Given the description of an element on the screen output the (x, y) to click on. 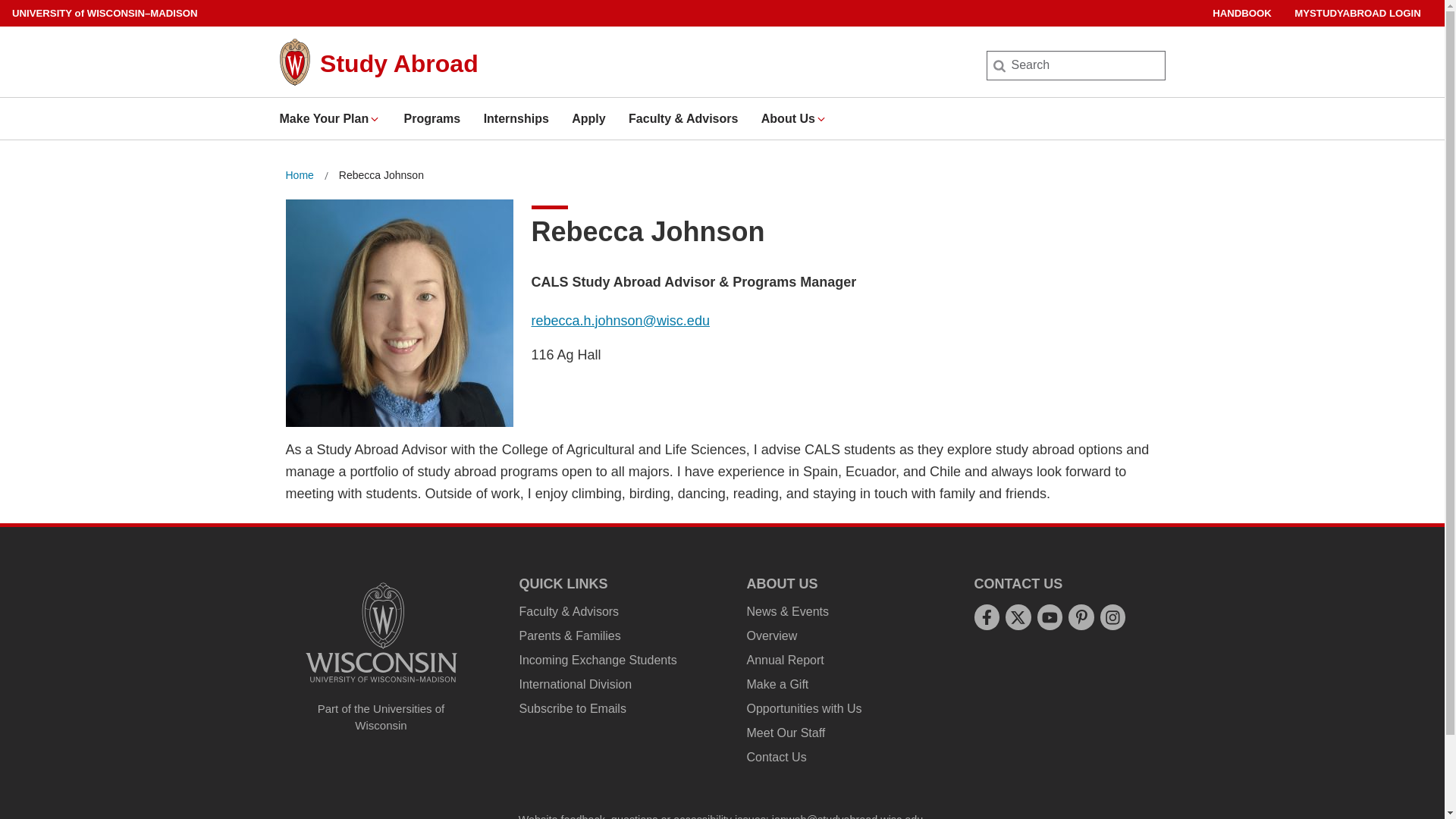
Study Abroad (399, 62)
About Us Expand (794, 118)
Incoming Exchange Students (597, 659)
MYSTUDYABROAD LOGIN (1357, 13)
Expand (374, 119)
Home (299, 175)
Make Your Plan Expand (329, 118)
youtube (1049, 617)
Programs (432, 118)
HANDBOOK (1241, 13)
